Given the description of an element on the screen output the (x, y) to click on. 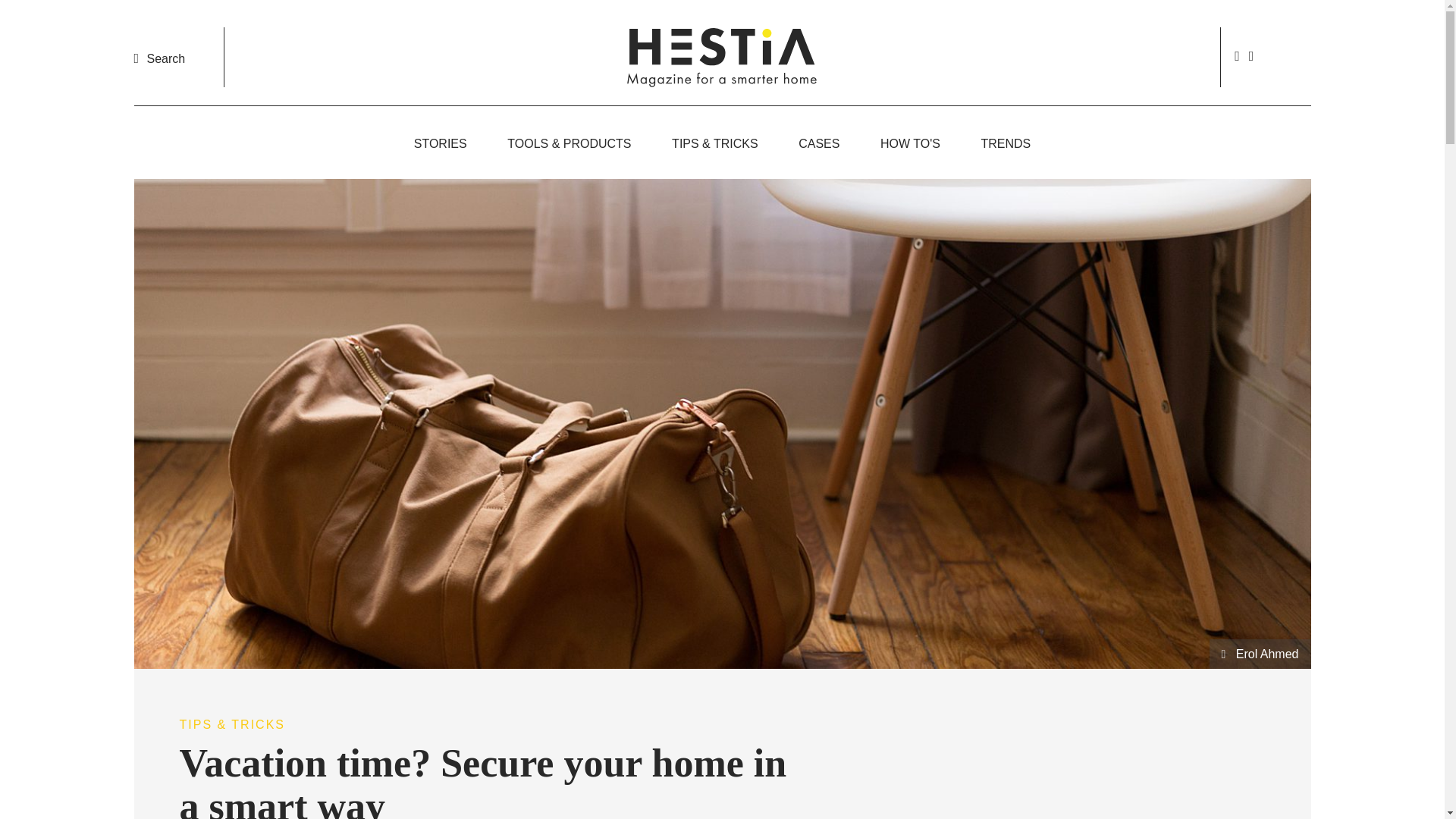
CASES (818, 143)
Home (721, 56)
STORIES (440, 143)
TRENDS (1004, 143)
HOW TO'S (910, 143)
Search (158, 58)
